Given the description of an element on the screen output the (x, y) to click on. 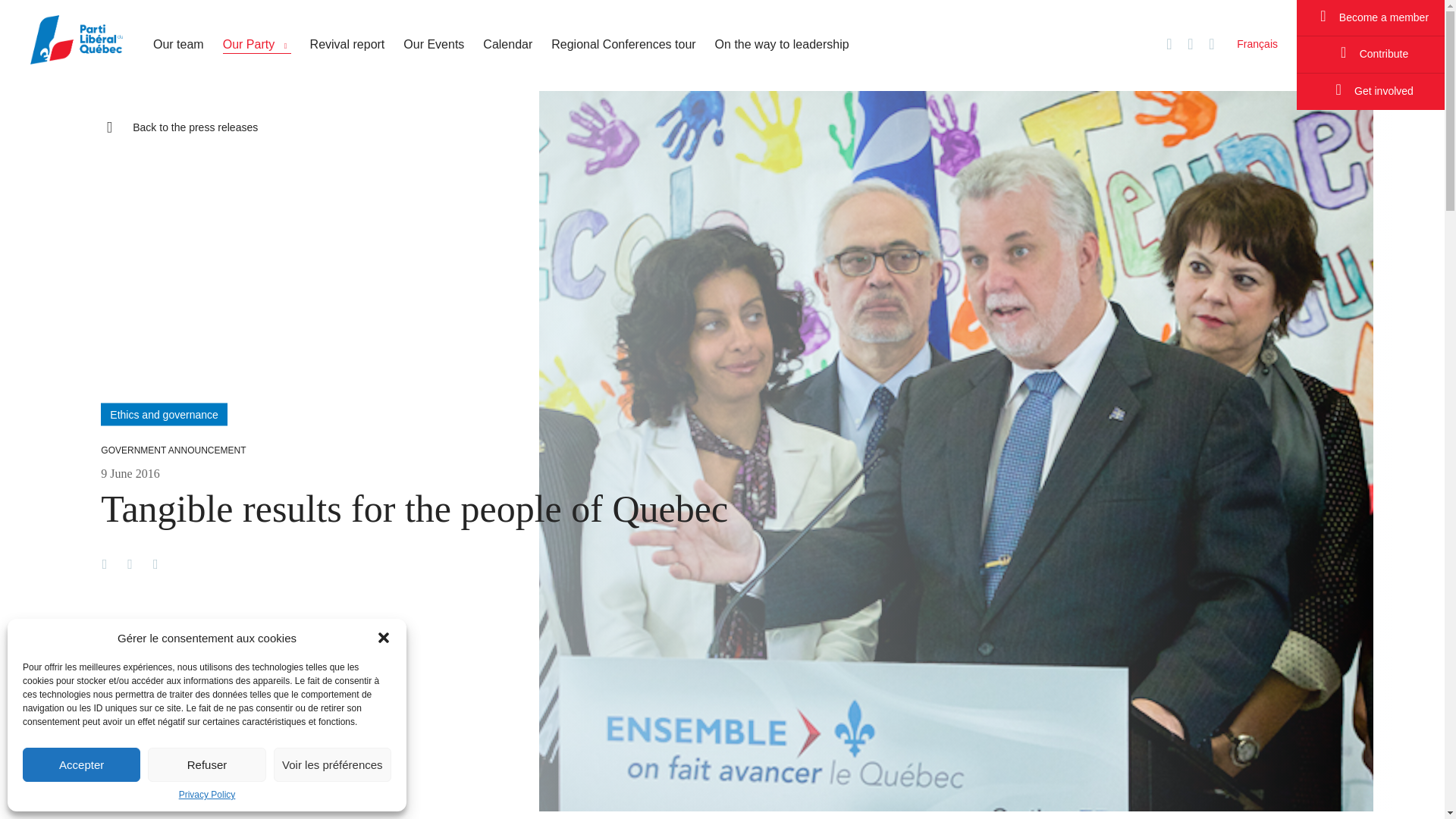
Privacy Policy (207, 794)
Our Events (433, 43)
Our team (177, 43)
On the way to leadership (781, 43)
Revival report (347, 43)
Back to the press releases (178, 126)
Ethics and governance (163, 413)
Refuser (206, 764)
Accepter (81, 764)
Regional Conferences tour (623, 43)
Calendar (507, 43)
